Given the description of an element on the screen output the (x, y) to click on. 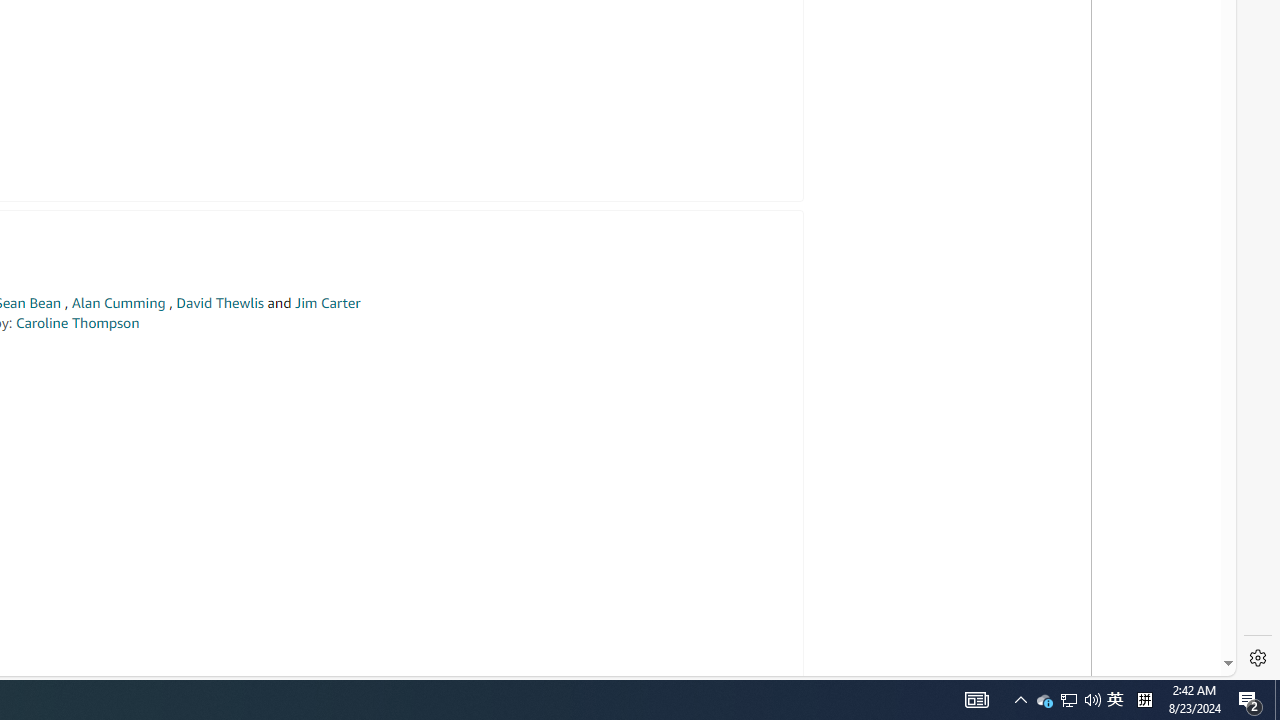
Caroline Thompson (77, 322)
David Thewlis (219, 303)
Jim Carter (327, 303)
Alan Cumming (118, 303)
